Given the description of an element on the screen output the (x, y) to click on. 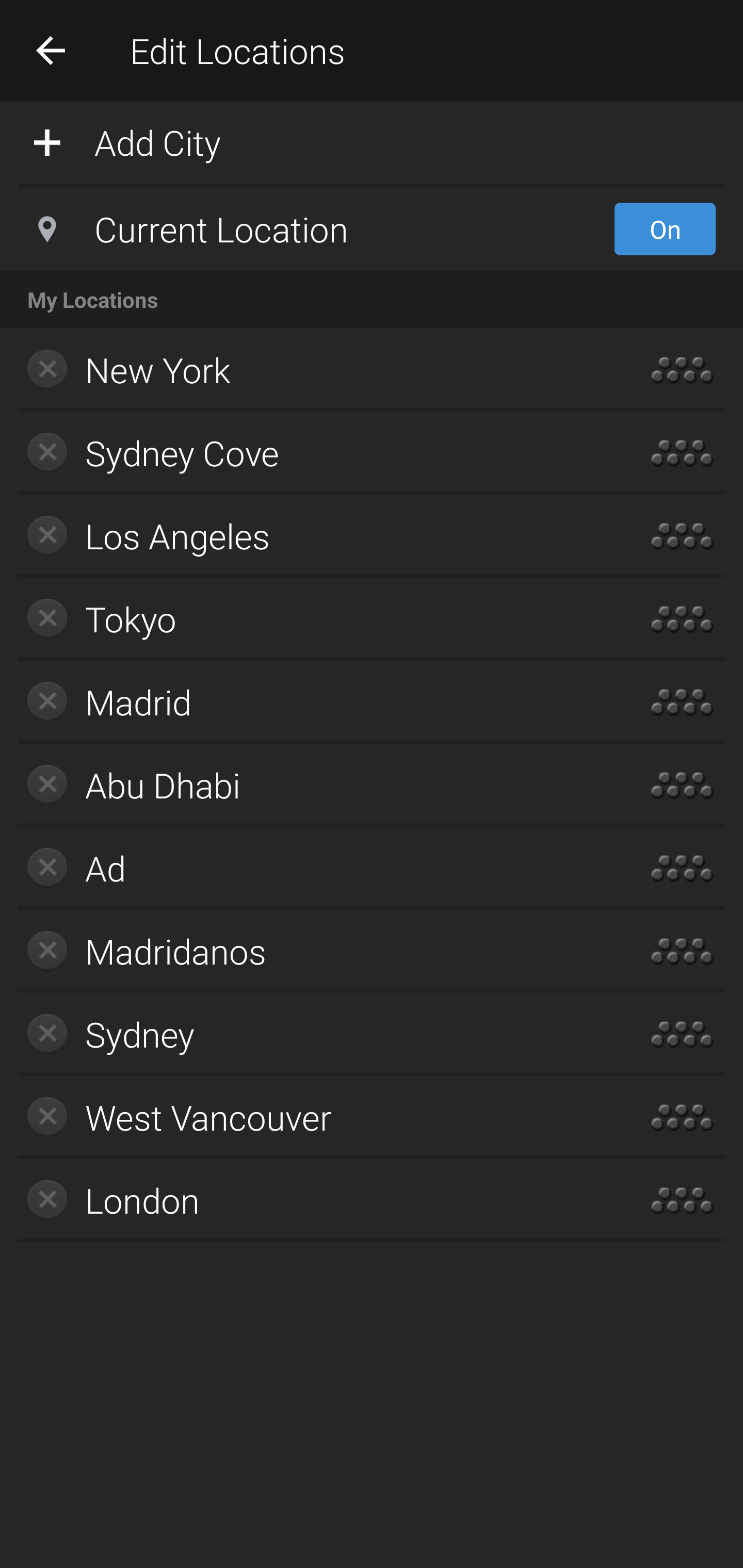
Navigate up (50, 50)
Add City (371, 141)
Current Location: On Current Location On (371, 229)
Delete: New York New York (311, 369)
Delete: Sydney Cove Sydney Cove (311, 452)
Delete: Los Angeles Los Angeles (311, 535)
Delete: Tokyo Tokyo (311, 618)
Delete: Madrid Madrid (311, 701)
Delete: Abu Dhabi Abu Dhabi (311, 784)
Delete: Ad Ad (311, 867)
Delete: Madridanos Madridanos (311, 950)
Delete: Sydney Sydney (311, 1033)
Delete: West Vancouver West Vancouver (311, 1116)
Delete: London London (311, 1200)
